Given the description of an element on the screen output the (x, y) to click on. 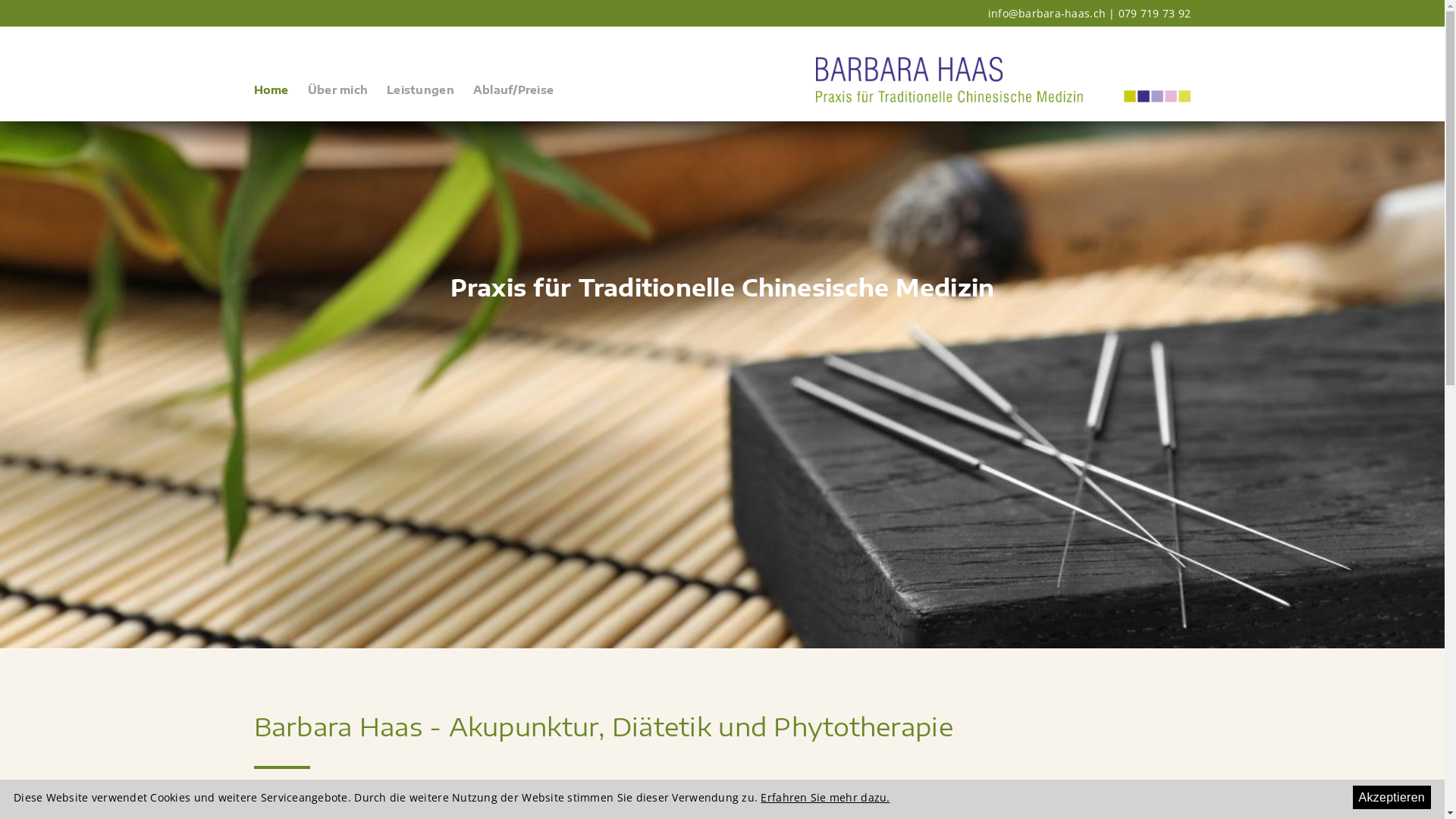
Ablauf/Preise Element type: text (517, 95)
Home Element type: text (275, 95)
Leistungen Element type: text (423, 95)
Erfahren Sie mehr dazu. Element type: text (824, 797)
info@barbara-haas.ch Element type: text (1046, 13)
